Given the description of an element on the screen output the (x, y) to click on. 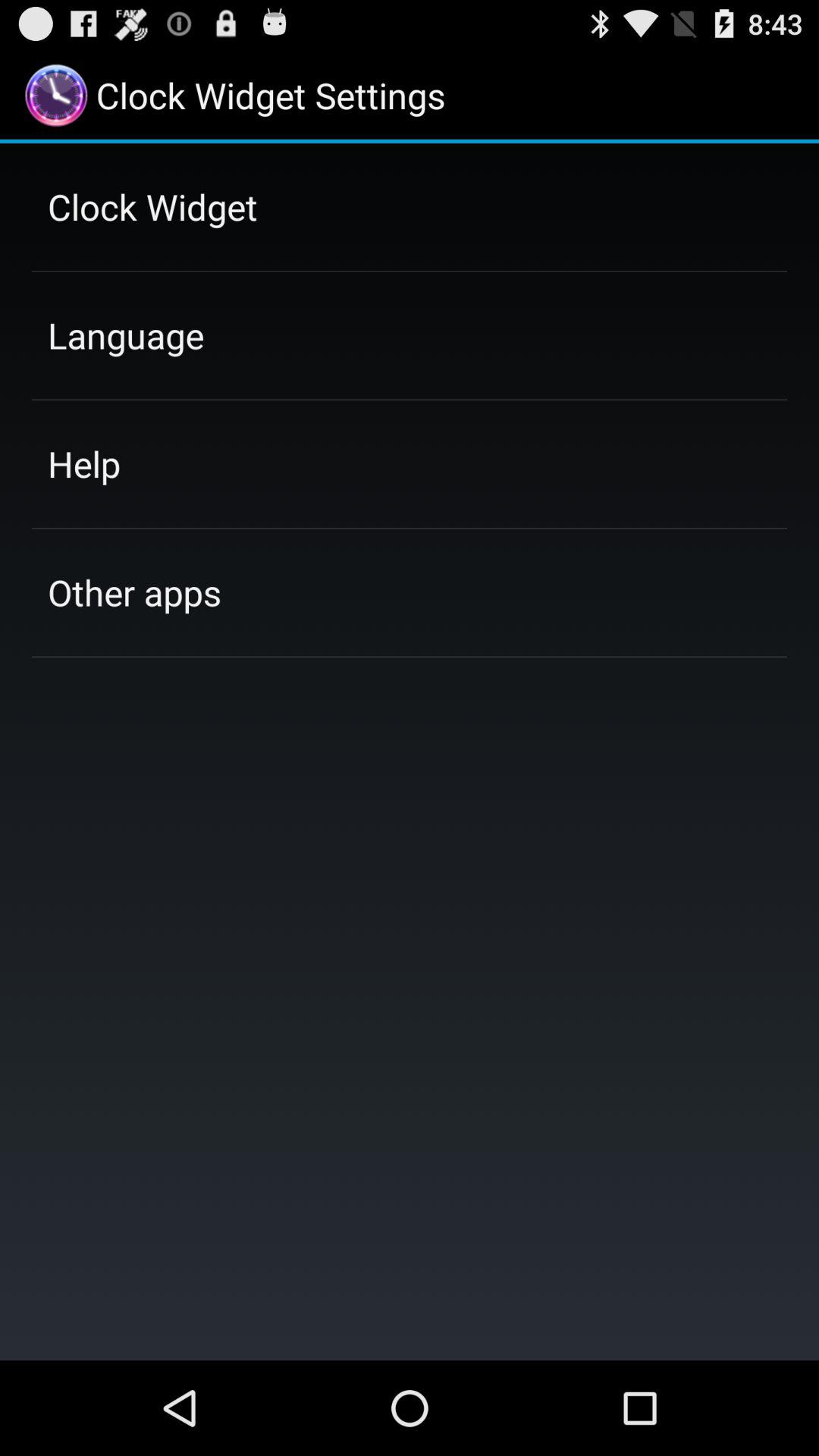
jump until the help item (83, 463)
